Given the description of an element on the screen output the (x, y) to click on. 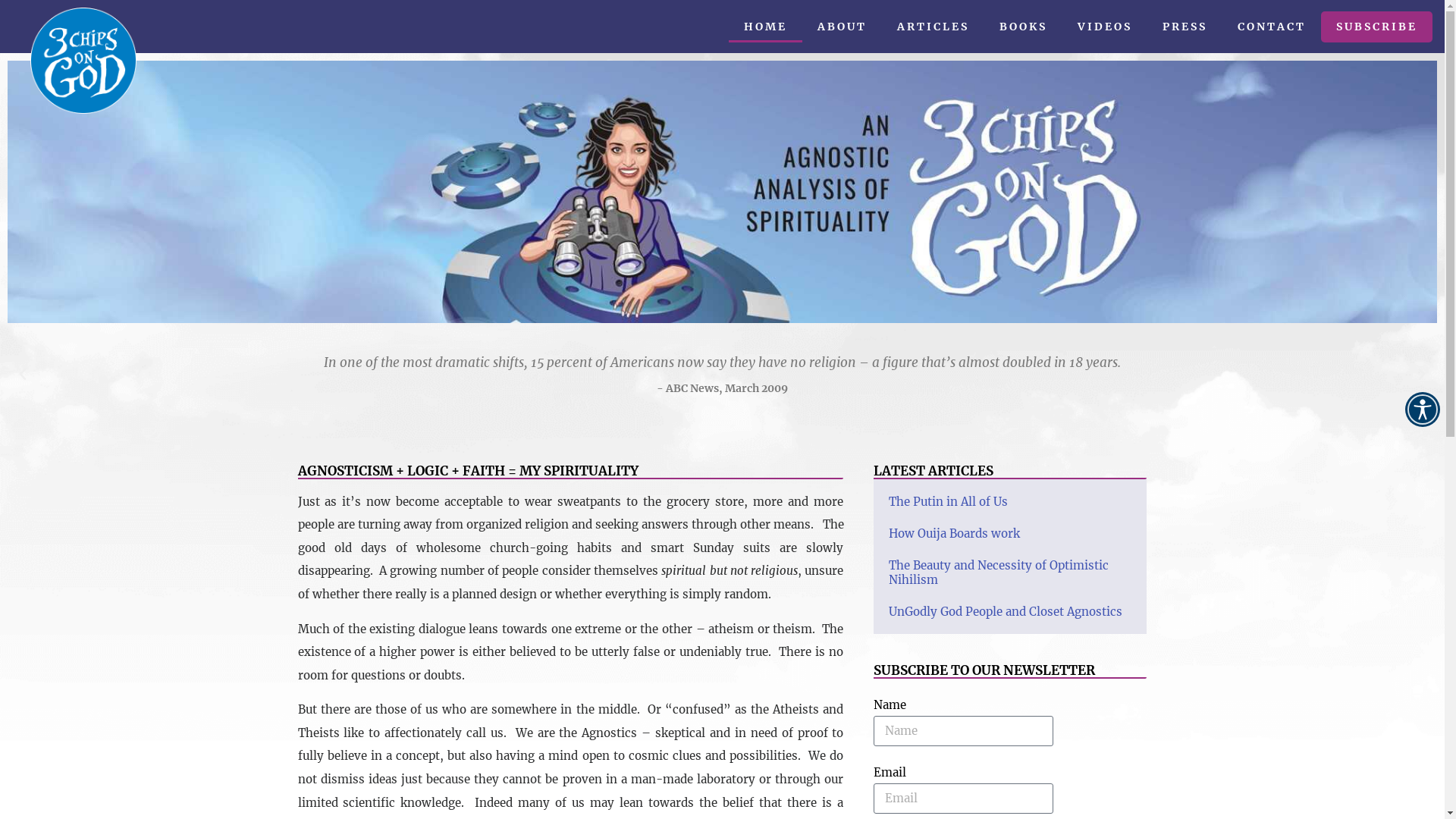
SUBSCRIBE Element type: text (1376, 25)
PRESS Element type: text (1184, 25)
UnGodly God People and Closet Agnostics Element type: text (1005, 611)
How Ouija Boards work Element type: text (953, 533)
The Beauty and Necessity of Optimistic Nihilism Element type: text (998, 572)
VIDEOS Element type: text (1104, 25)
ARTICLES Element type: text (932, 25)
BOOKS Element type: text (1023, 25)
CONTACT Element type: text (1271, 25)
The Putin in All of Us Element type: text (947, 501)
HOME Element type: text (765, 25)
ABOUT Element type: text (841, 25)
